Given the description of an element on the screen output the (x, y) to click on. 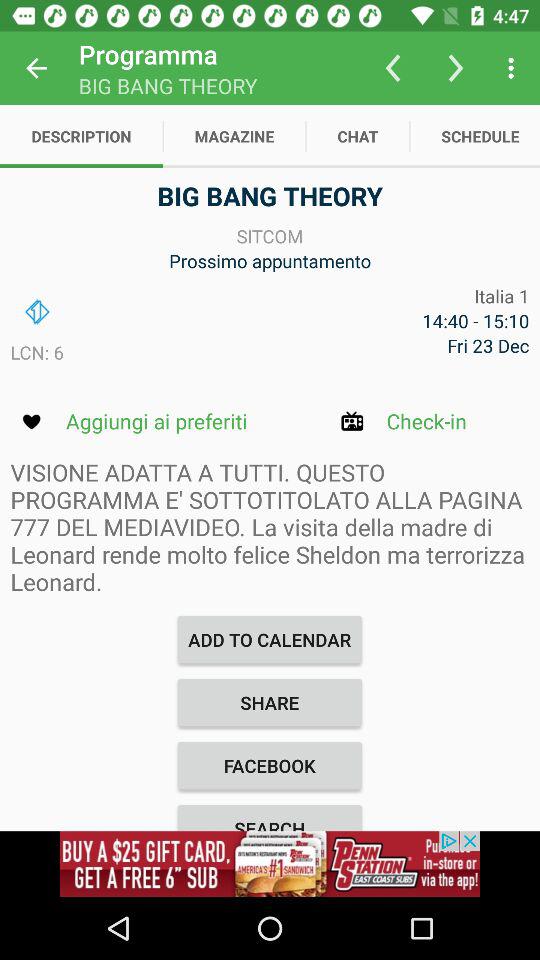
go to adverstment option (270, 864)
